Given the description of an element on the screen output the (x, y) to click on. 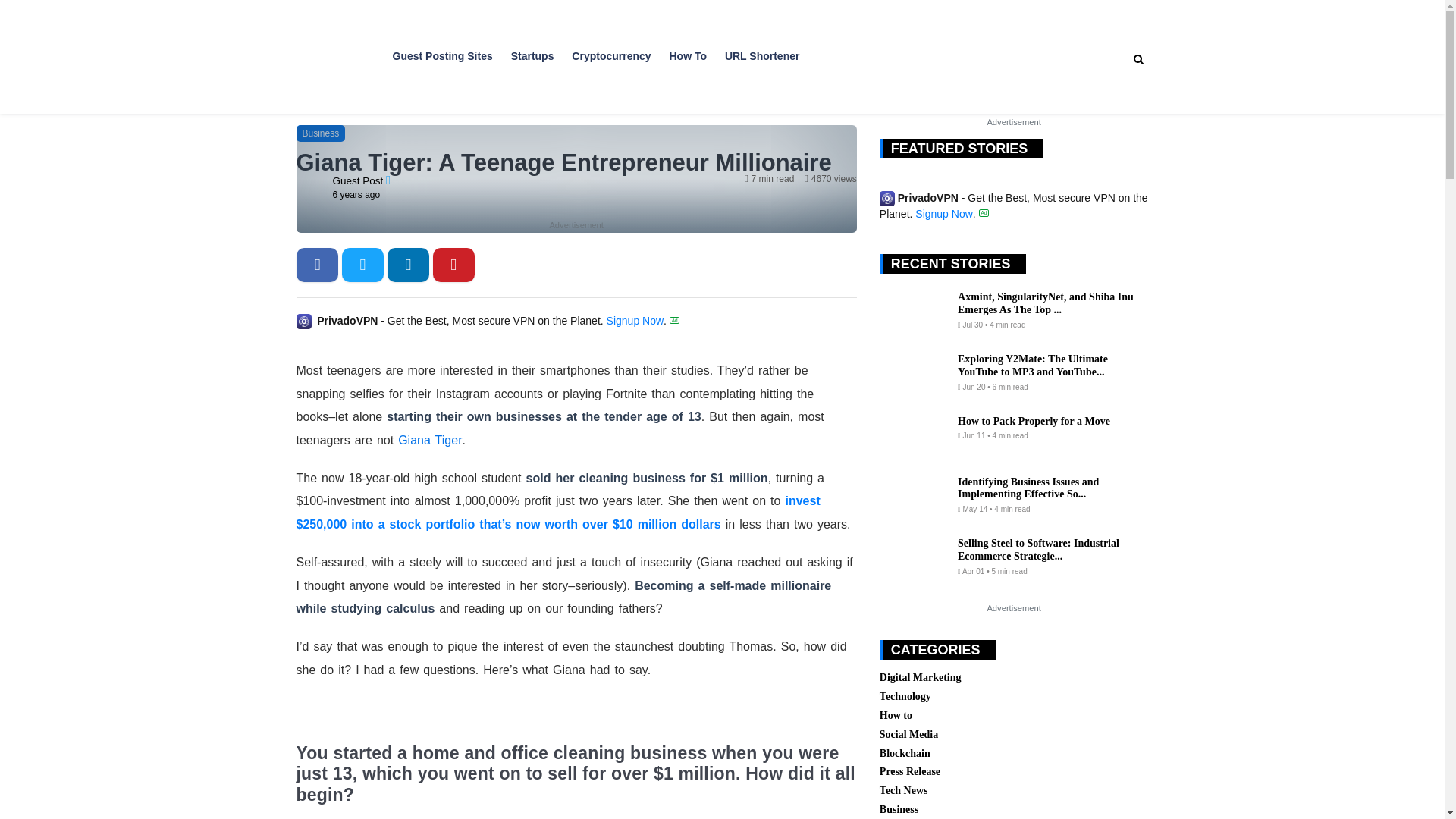
Share to Linkedin (408, 264)
Sponsored Ad (984, 212)
Guest Post (358, 180)
Startups (532, 50)
Business (320, 133)
Guest Posting Sites (443, 50)
Share to Facebook (317, 264)
Signup Now (635, 320)
URL Shortener (762, 50)
How To (687, 50)
